Given the description of an element on the screen output the (x, y) to click on. 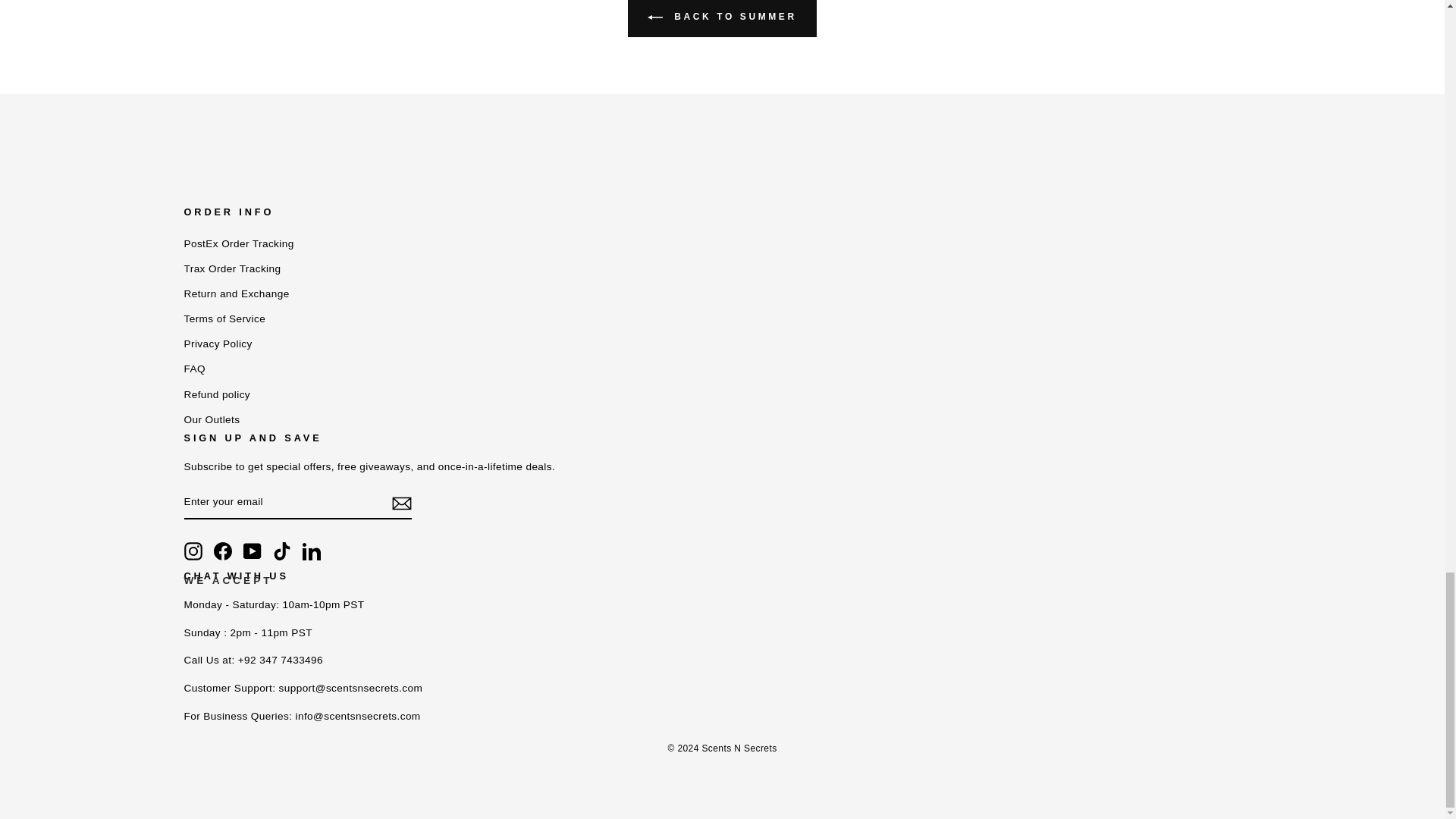
Scents N Secrets on Instagram (192, 551)
Scents N Secrets on LinkedIn (310, 551)
ICON-LEFT-ARROW (654, 17)
Scents N Secrets on YouTube (251, 551)
Scents N Secrets on Facebook (222, 551)
icon-email (400, 503)
Scents N Secrets on TikTok (282, 551)
instagram (192, 551)
